Given the description of an element on the screen output the (x, y) to click on. 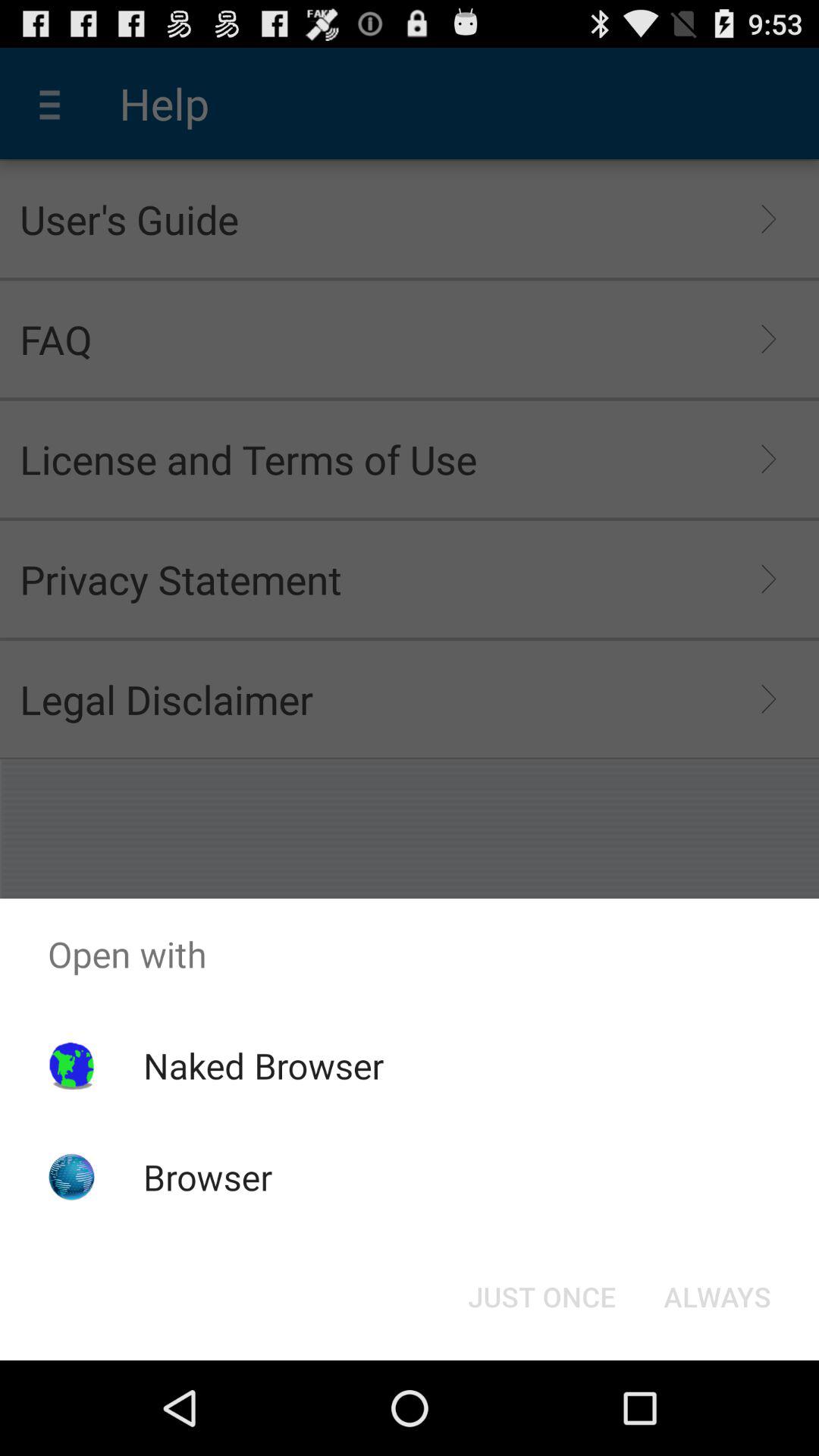
press icon below open with item (541, 1296)
